Given the description of an element on the screen output the (x, y) to click on. 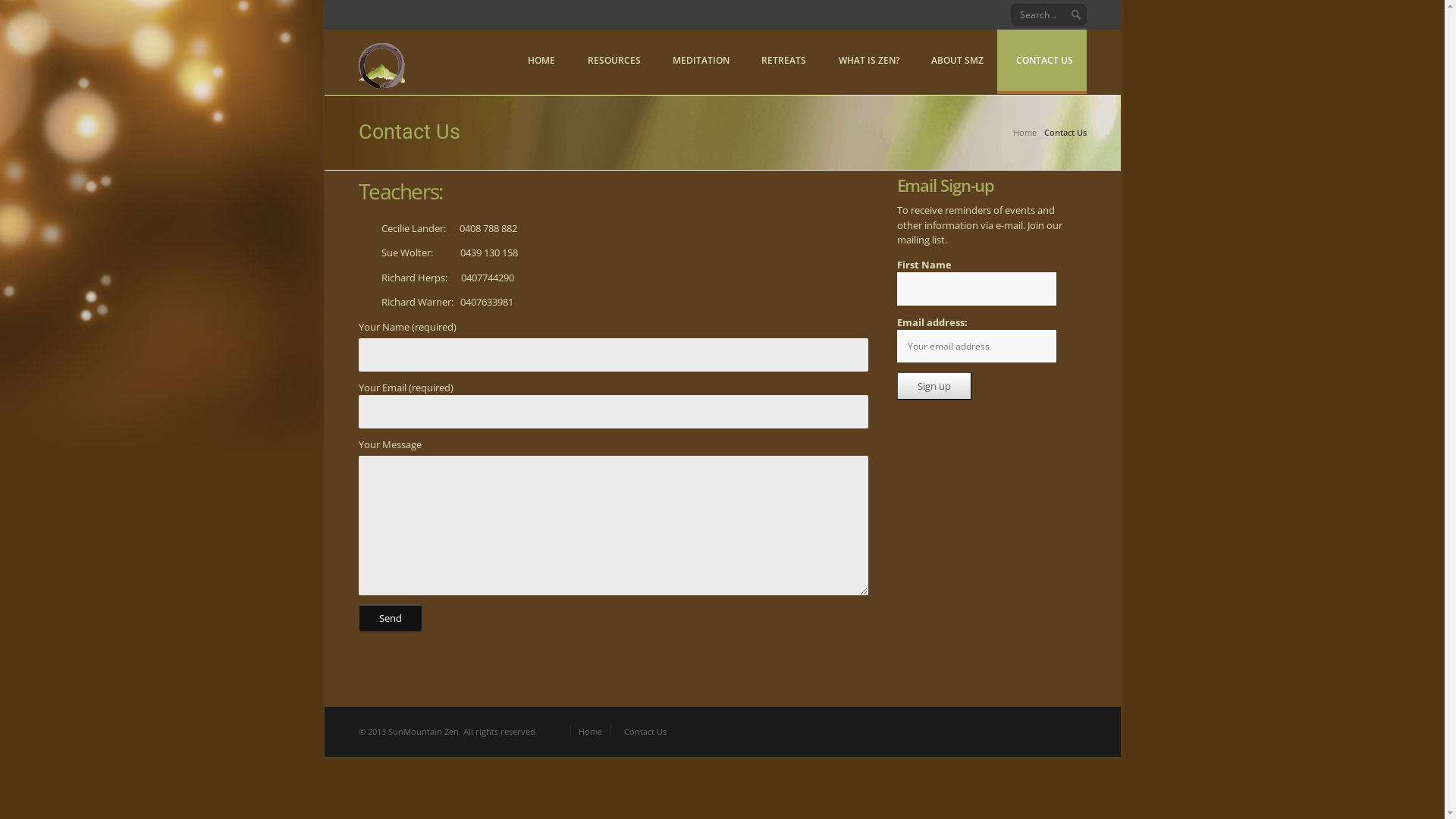
MEDITATION Element type: text (698, 61)
RETREATS Element type: text (781, 61)
Home Element type: text (1024, 132)
CONTACT US Element type: text (1041, 61)
ABOUT SMZ Element type: text (955, 61)
WHAT IS ZEN? Element type: text (865, 61)
Sign up Element type: text (934, 385)
Home Element type: text (590, 731)
Contact Us Element type: text (644, 731)
RESOURCES Element type: text (610, 61)
Send Element type: text (389, 617)
HOME Element type: text (538, 61)
